Given the description of an element on the screen output the (x, y) to click on. 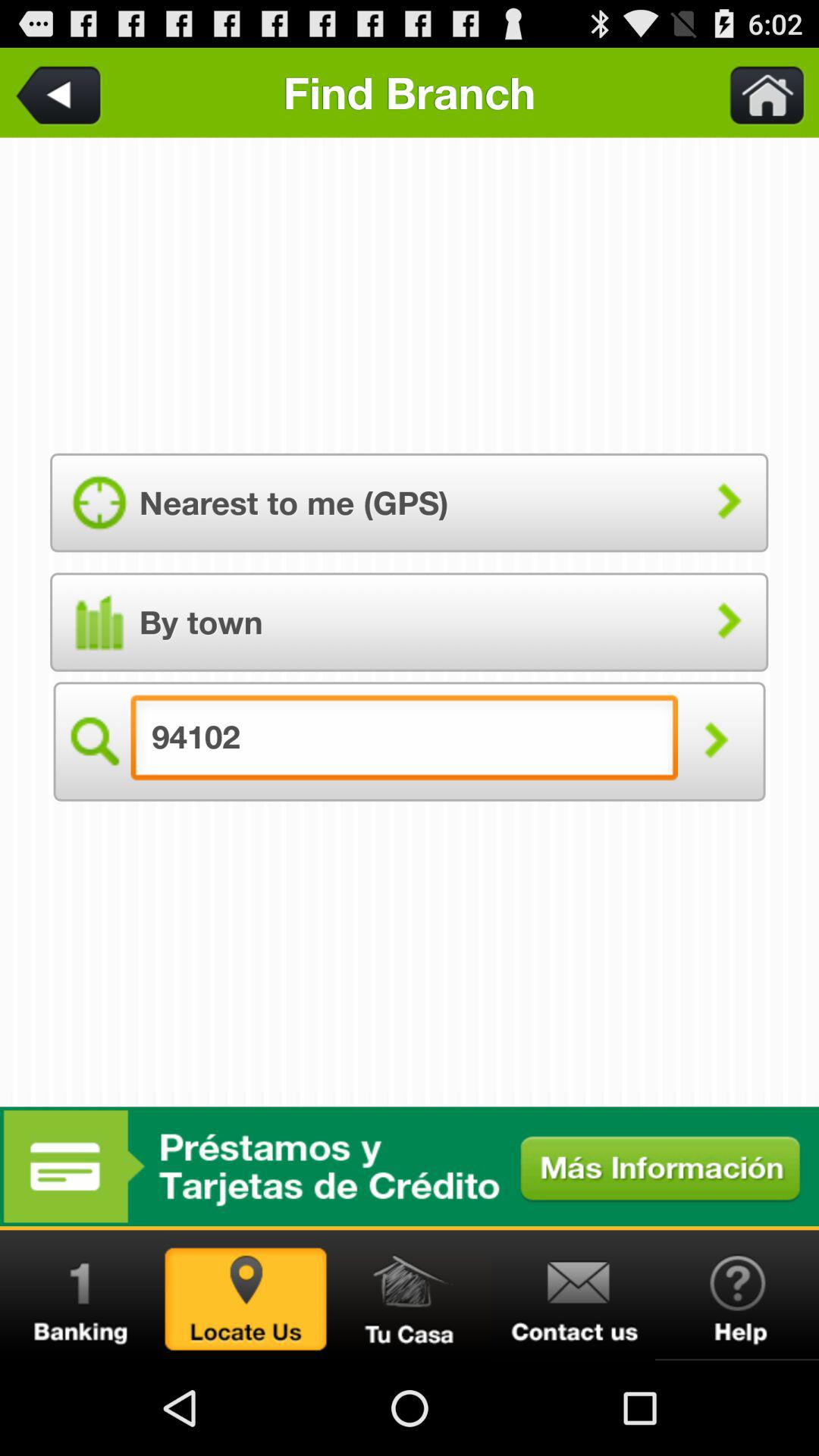
view add (409, 1166)
